Given the description of an element on the screen output the (x, y) to click on. 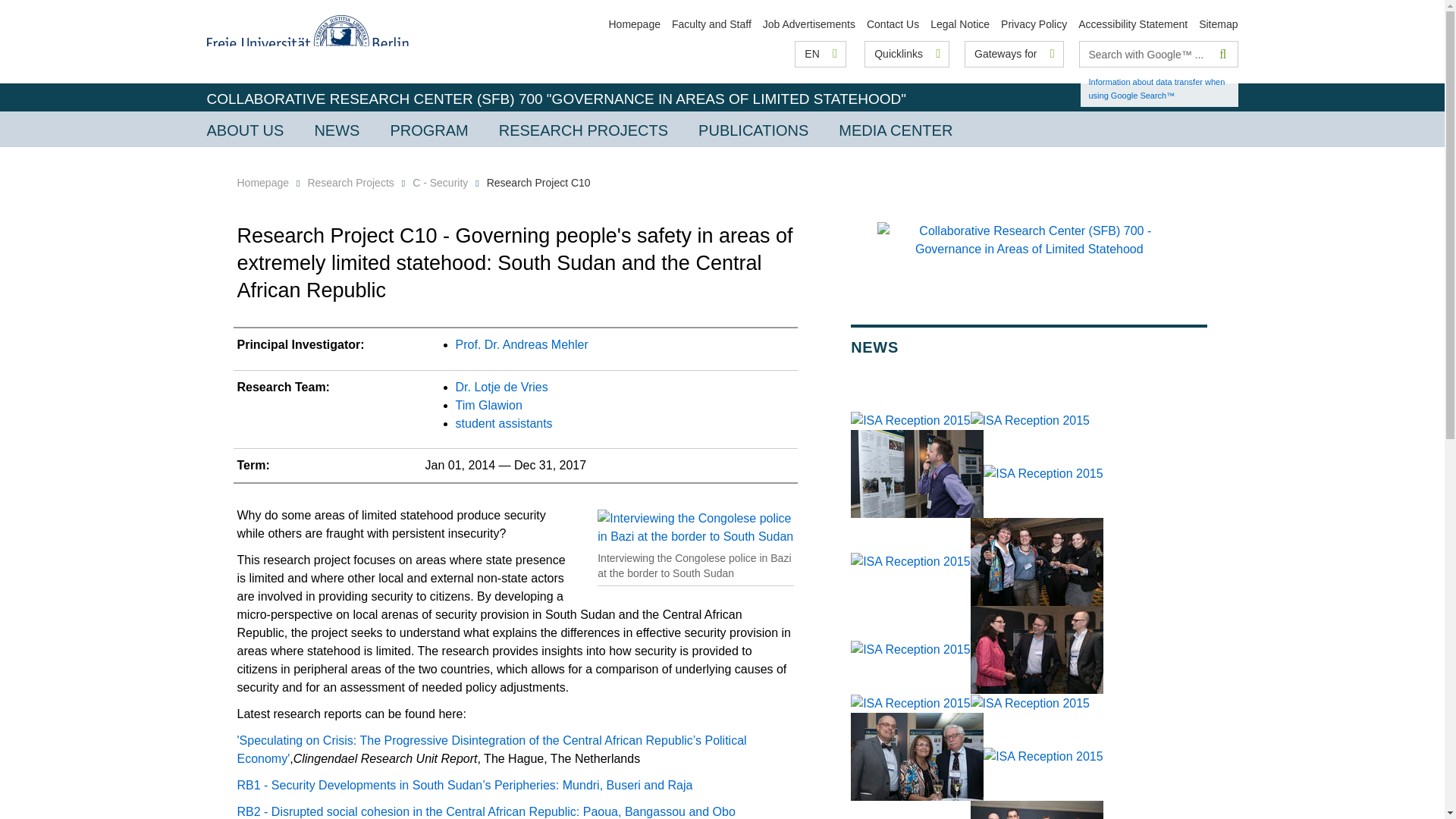
PROGRAM (428, 129)
NEWS (336, 129)
Faculty and Staff (711, 24)
Prof. Dr. Andreas Mehler (521, 344)
Job Advertisements (809, 24)
Please enter search term here (1144, 53)
Legal Notice (960, 24)
ABOUT US (244, 129)
Dr. Lotje de Vries (501, 386)
Privacy Policy (1034, 24)
